Given the description of an element on the screen output the (x, y) to click on. 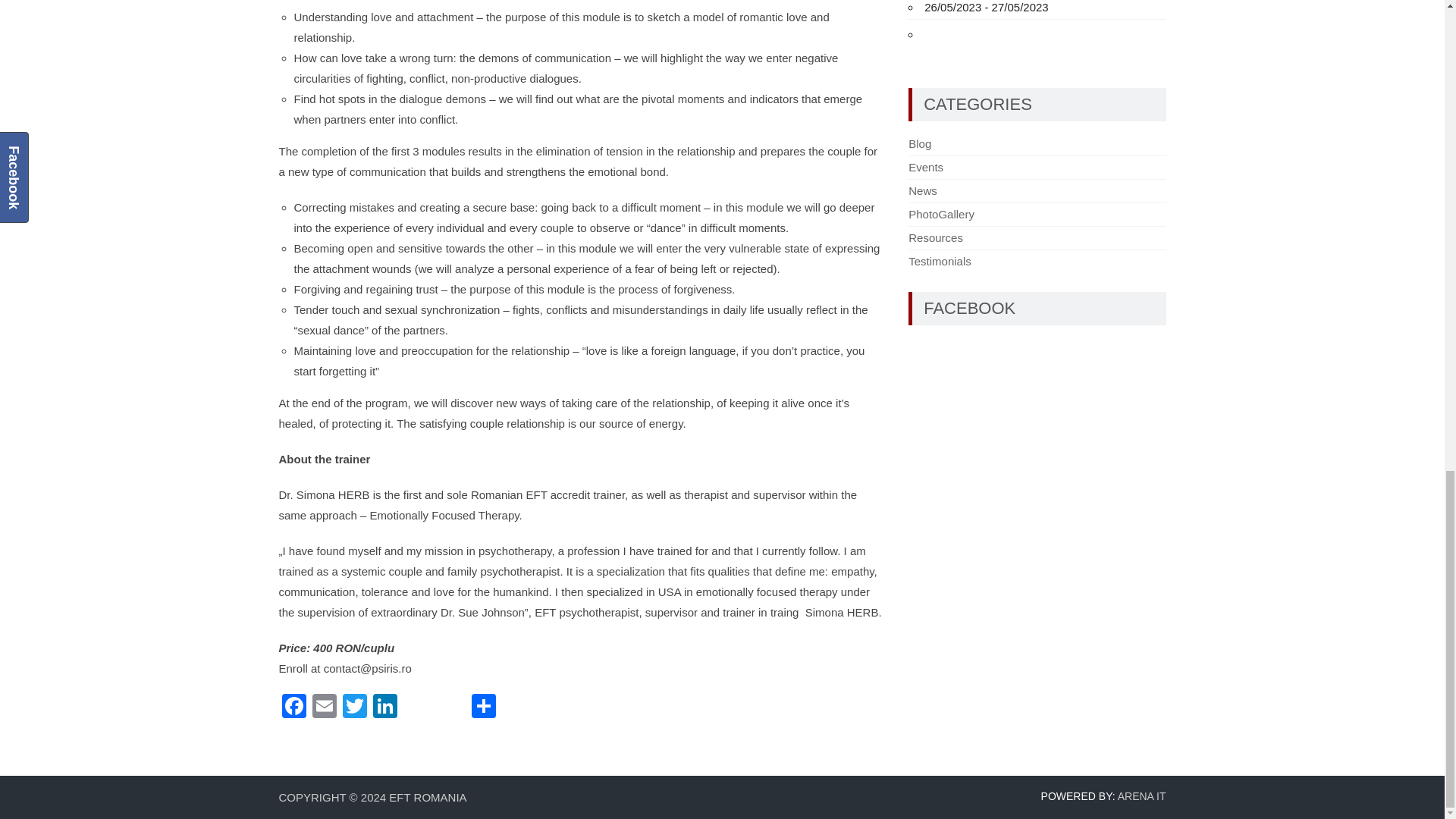
Twitter (354, 707)
Email (323, 707)
LinkedIn (384, 707)
Arena IT Webdesign (1142, 796)
Email (323, 707)
Facebook (293, 707)
LinkedIn (384, 707)
Facebook (293, 707)
Twitter (354, 707)
